Given the description of an element on the screen output the (x, y) to click on. 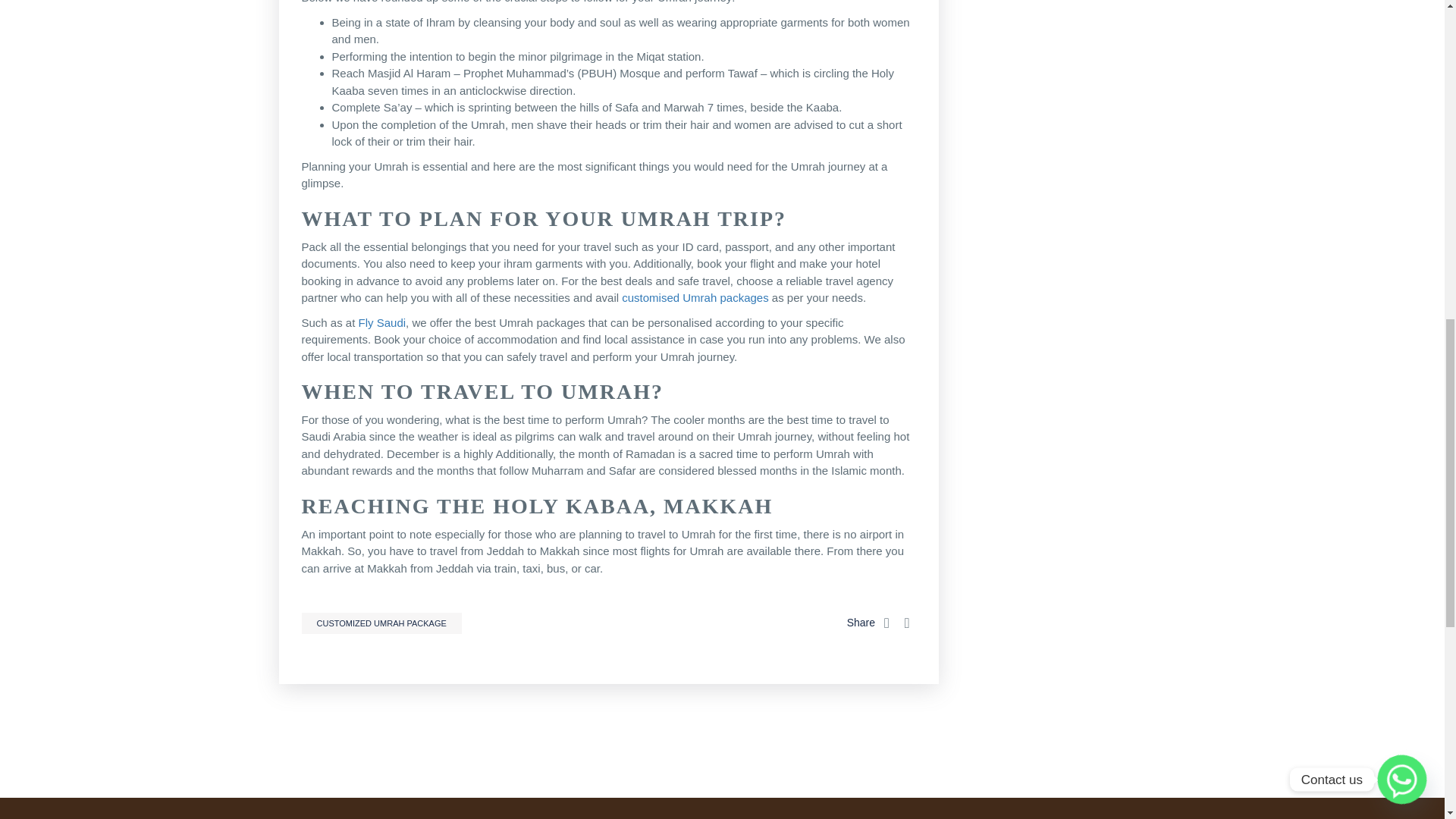
customised Umrah packages (694, 297)
Fly Saudi (382, 322)
